Given the description of an element on the screen output the (x, y) to click on. 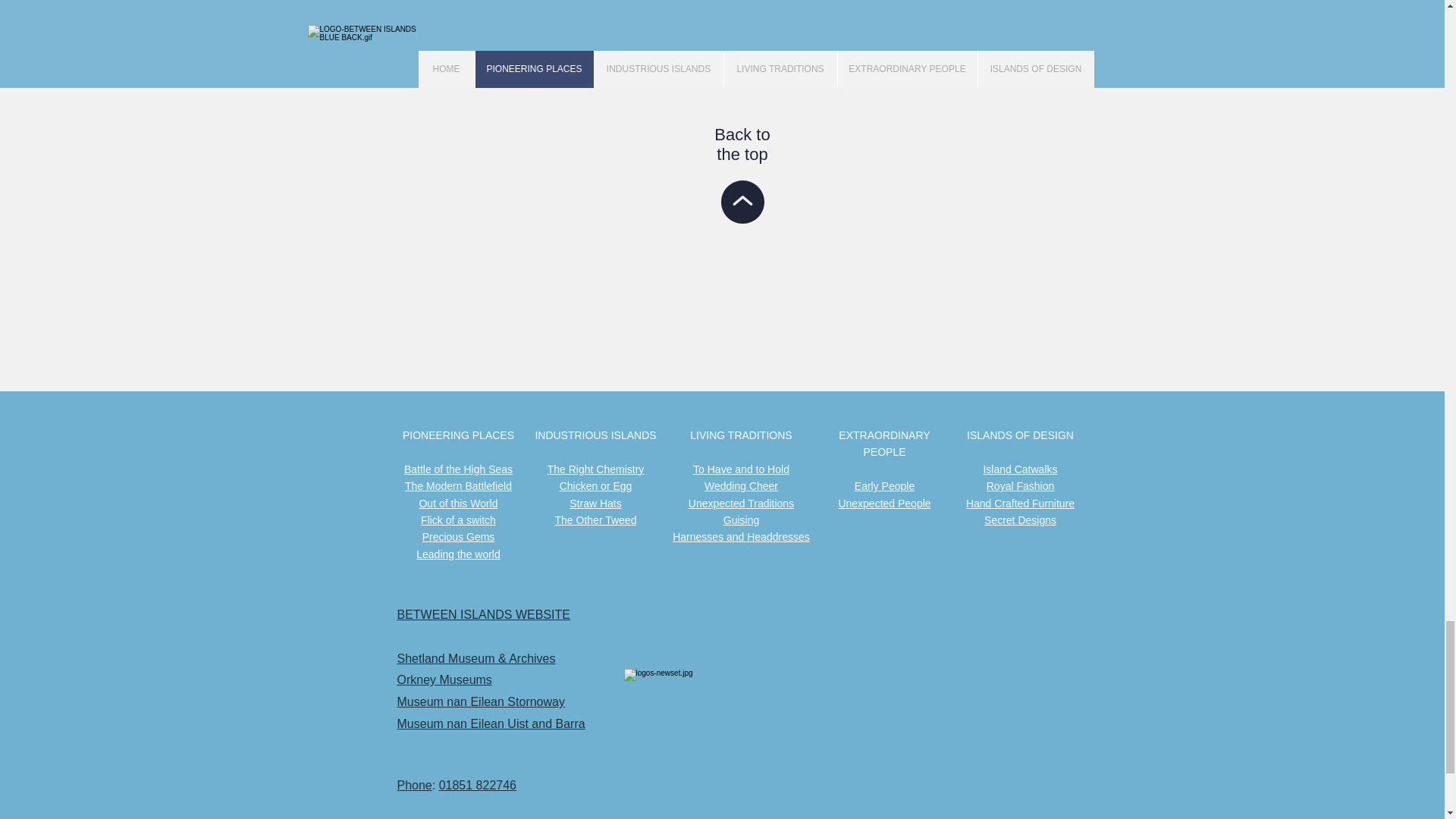
Battle of the High Seas (458, 469)
The Modern Battlefield (458, 485)
Leading the world (458, 553)
Out of this World (458, 503)
Precious Gems (458, 536)
Flick of a switch (458, 520)
